Given the description of an element on the screen output the (x, y) to click on. 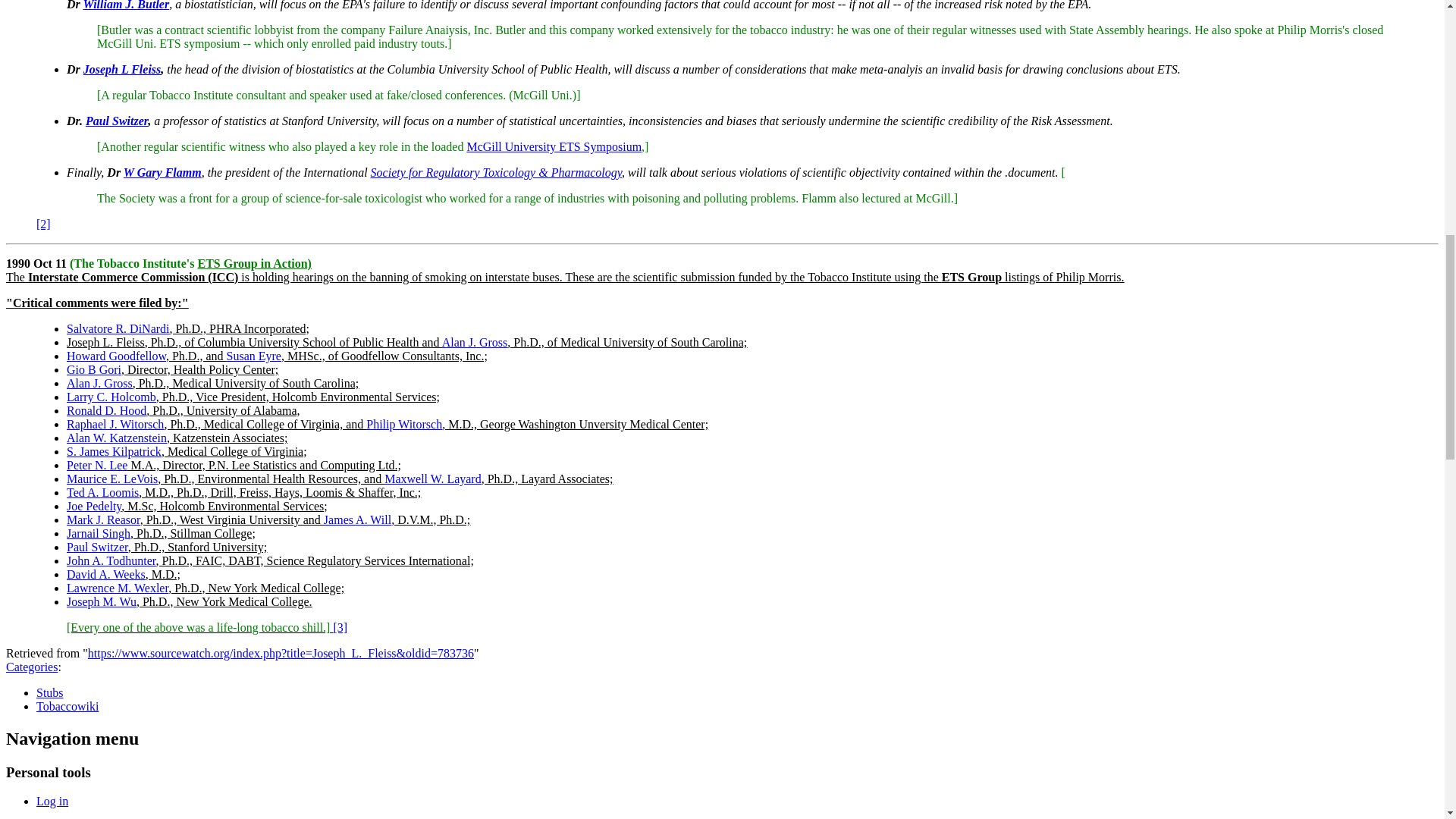
Philip Witorsch (404, 423)
Alan J. Gross (475, 341)
Ronald D. Hood (106, 410)
Salvatore R. DiNardi (118, 328)
McGill University ETS Symposium (553, 146)
Alan J. Gross (99, 382)
Joseph L. Fleiss (105, 341)
Joseph L Fleiss (121, 69)
Raphael J. Witorsch (114, 423)
Paul Switzer (116, 120)
William J. Butler (126, 5)
Gio B Gori (93, 369)
William J. Butler (126, 5)
Howard Goodfellow (115, 355)
Susan Eyre (253, 355)
